Given the description of an element on the screen output the (x, y) to click on. 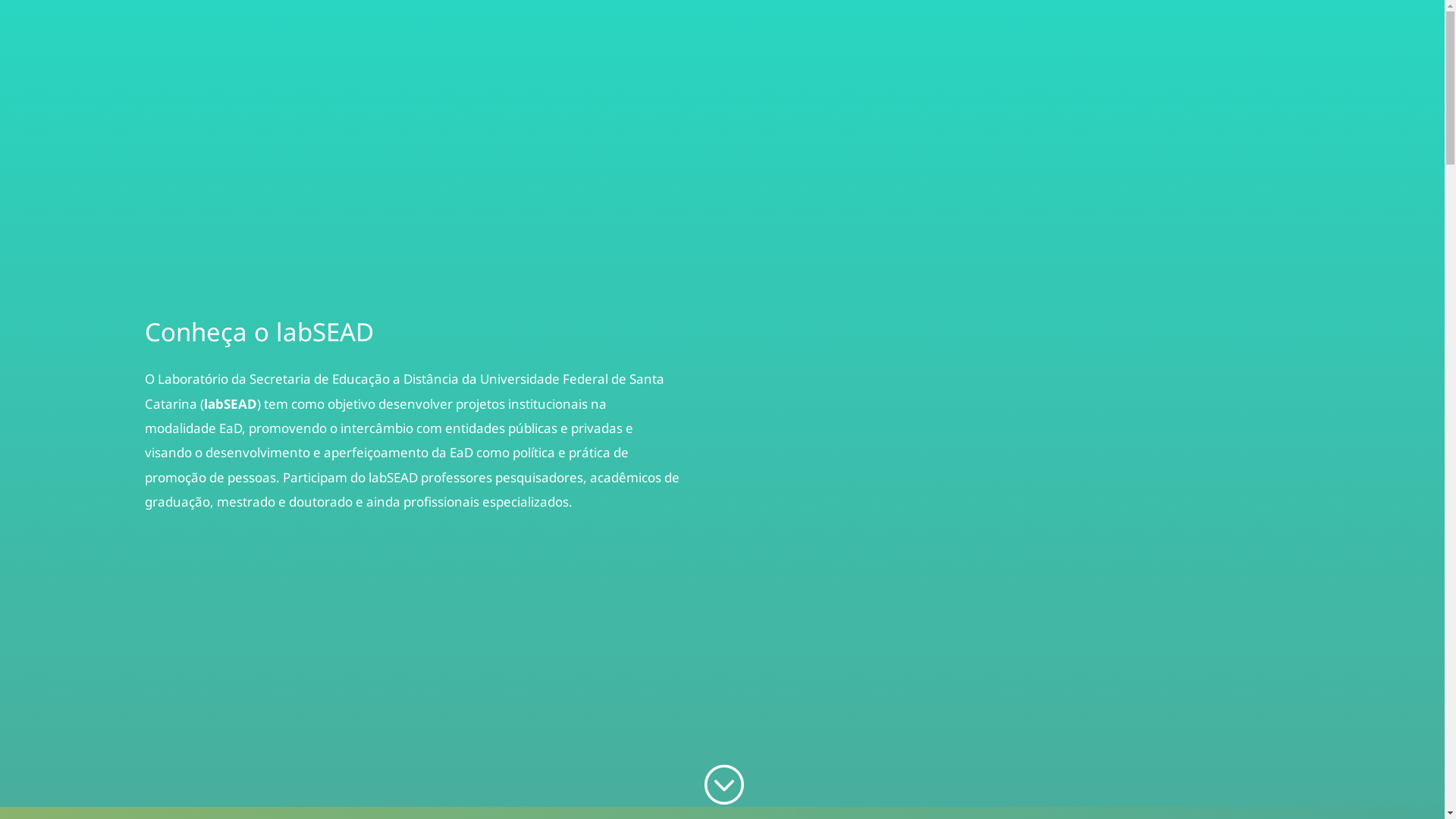
; Element type: text (721, 785)
